Given the description of an element on the screen output the (x, y) to click on. 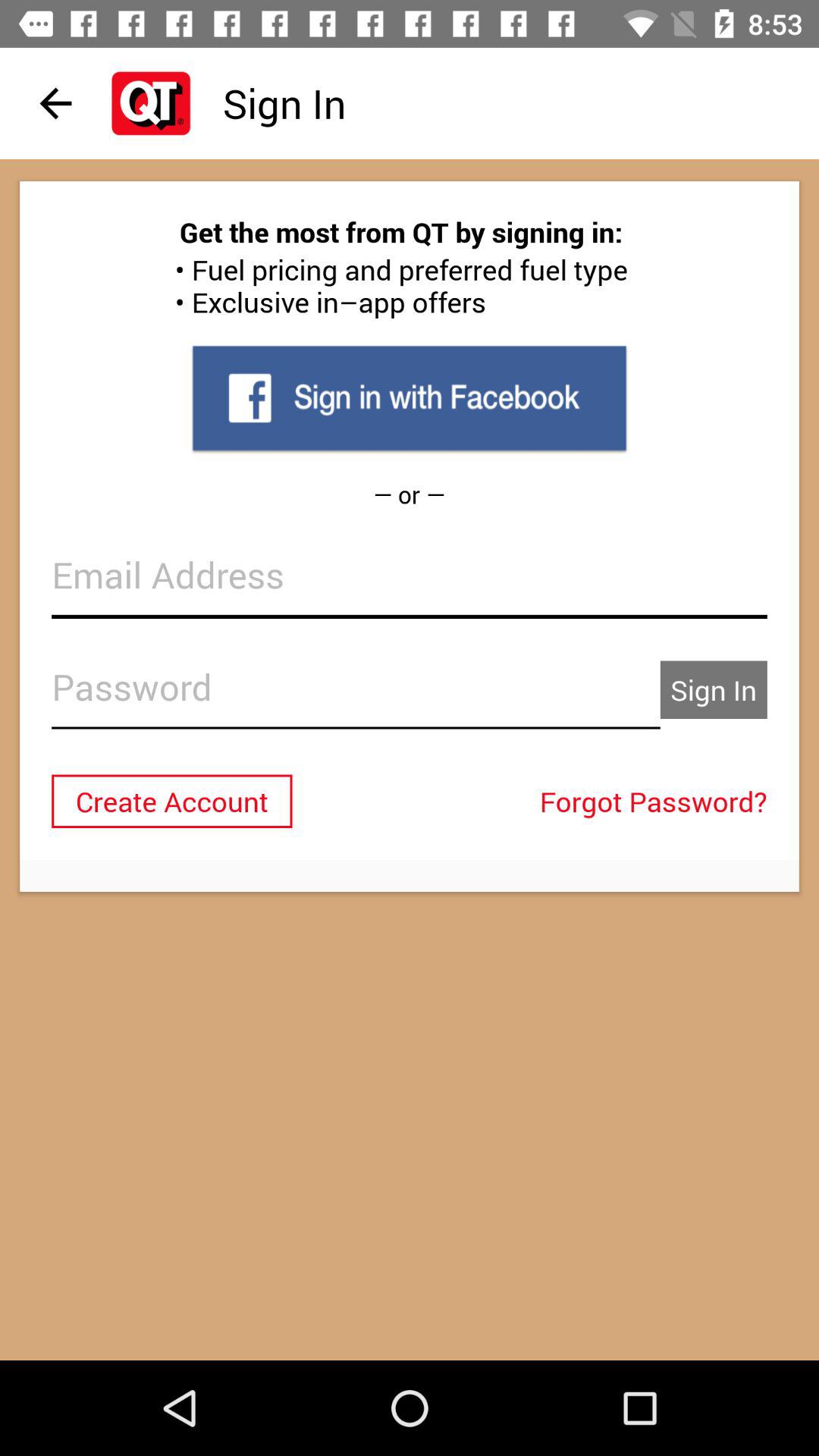
swipe until the create account (171, 801)
